Given the description of an element on the screen output the (x, y) to click on. 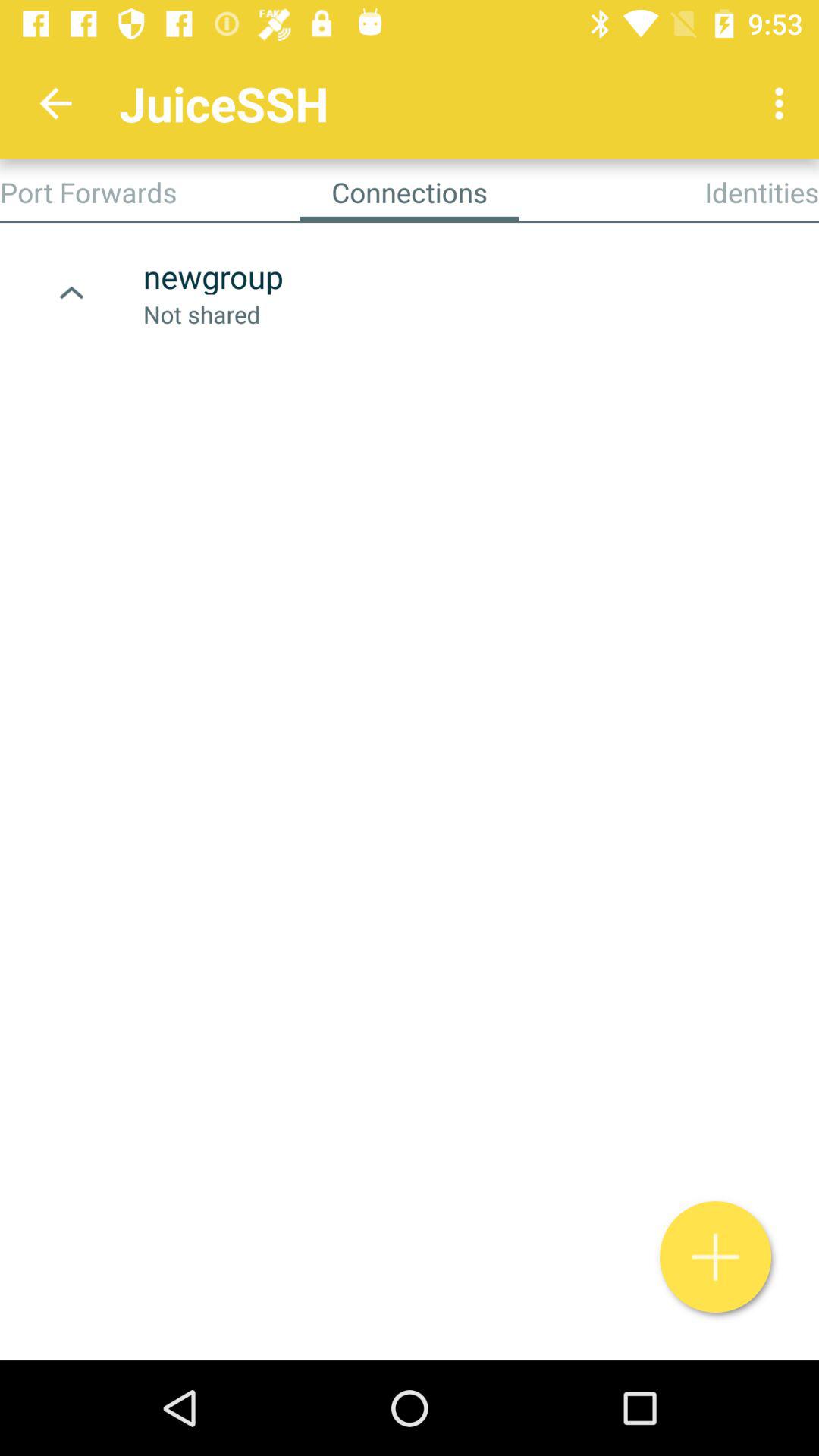
press the app above identities (783, 103)
